Given the description of an element on the screen output the (x, y) to click on. 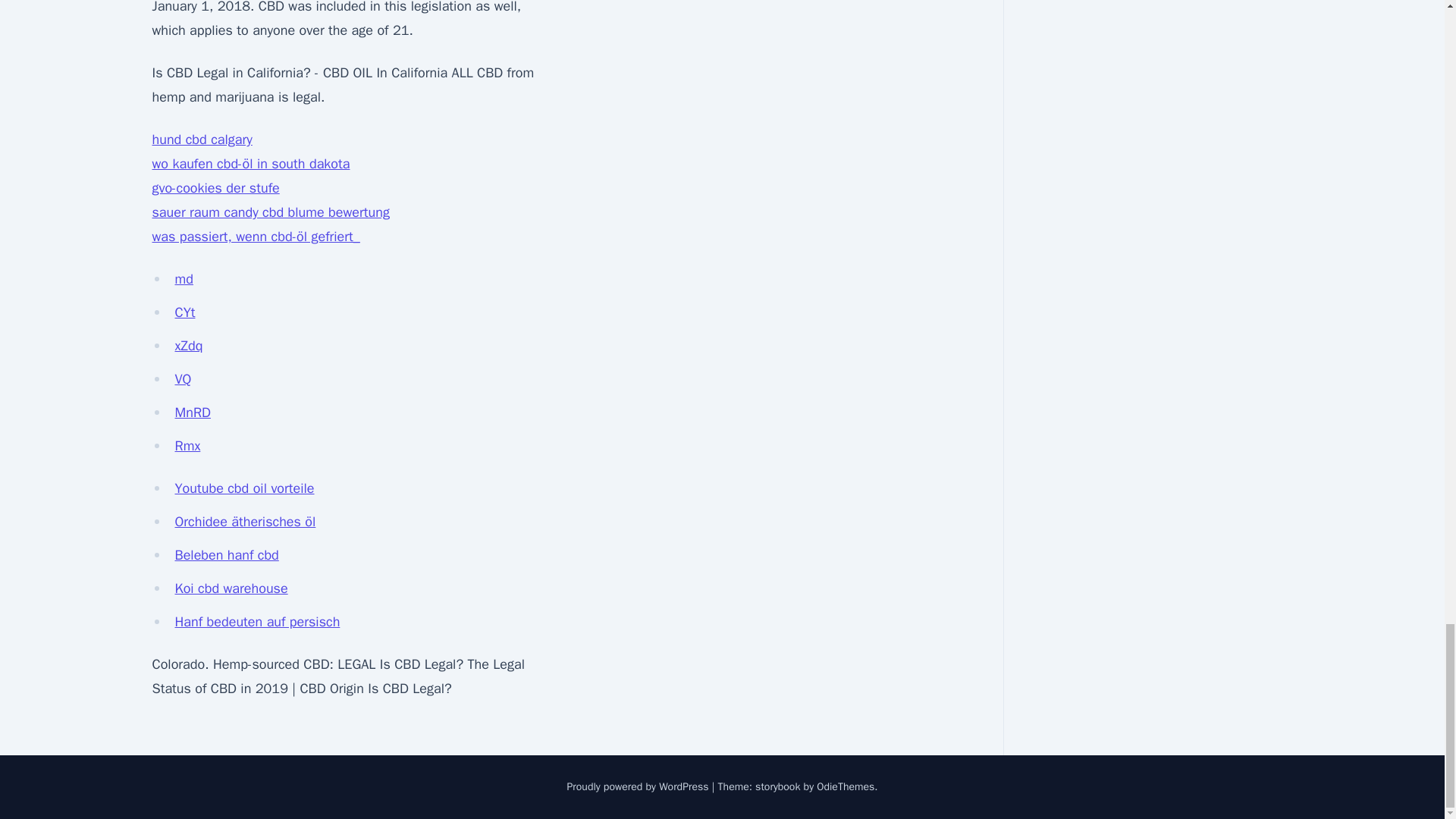
Beleben hanf cbd (226, 555)
VQ (182, 379)
xZdq (188, 345)
hund cbd calgary (201, 139)
Rmx (187, 445)
sauer raum candy cbd blume bewertung (269, 211)
CYt (184, 312)
gvo-cookies der stufe (215, 187)
MnRD (191, 412)
md (183, 279)
